Given the description of an element on the screen output the (x, y) to click on. 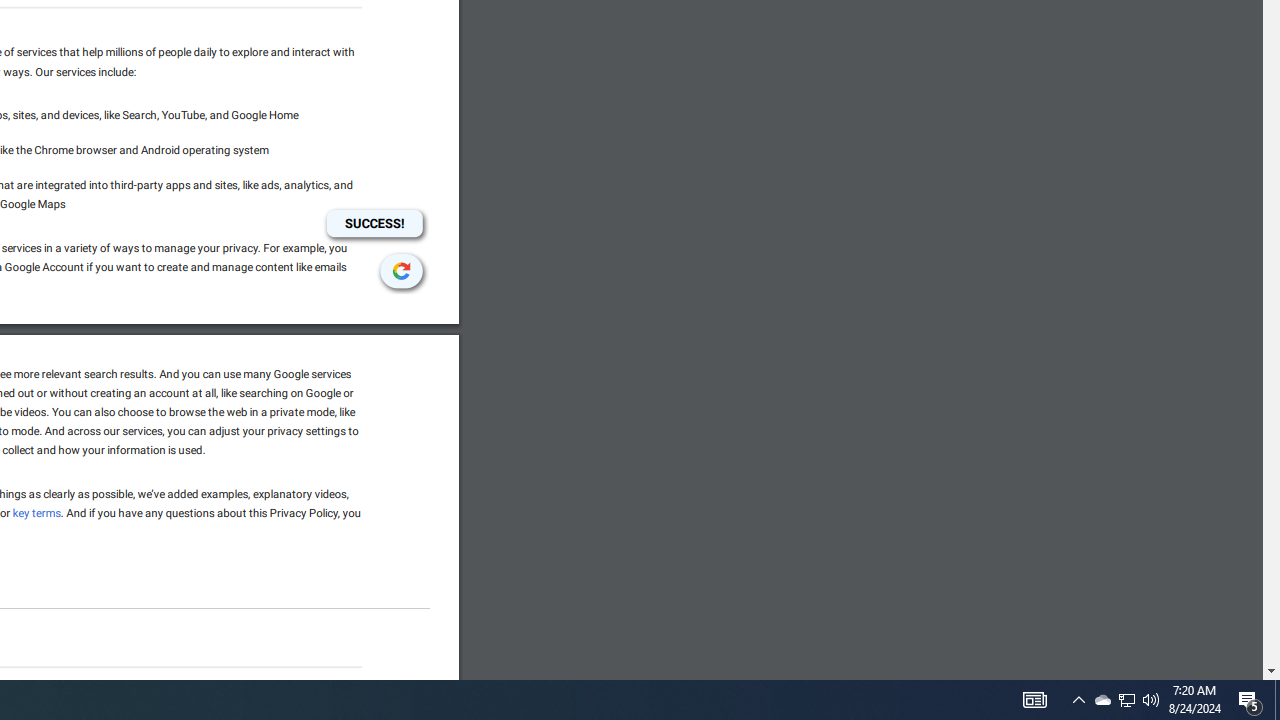
key terms (36, 512)
